Given the description of an element on the screen output the (x, y) to click on. 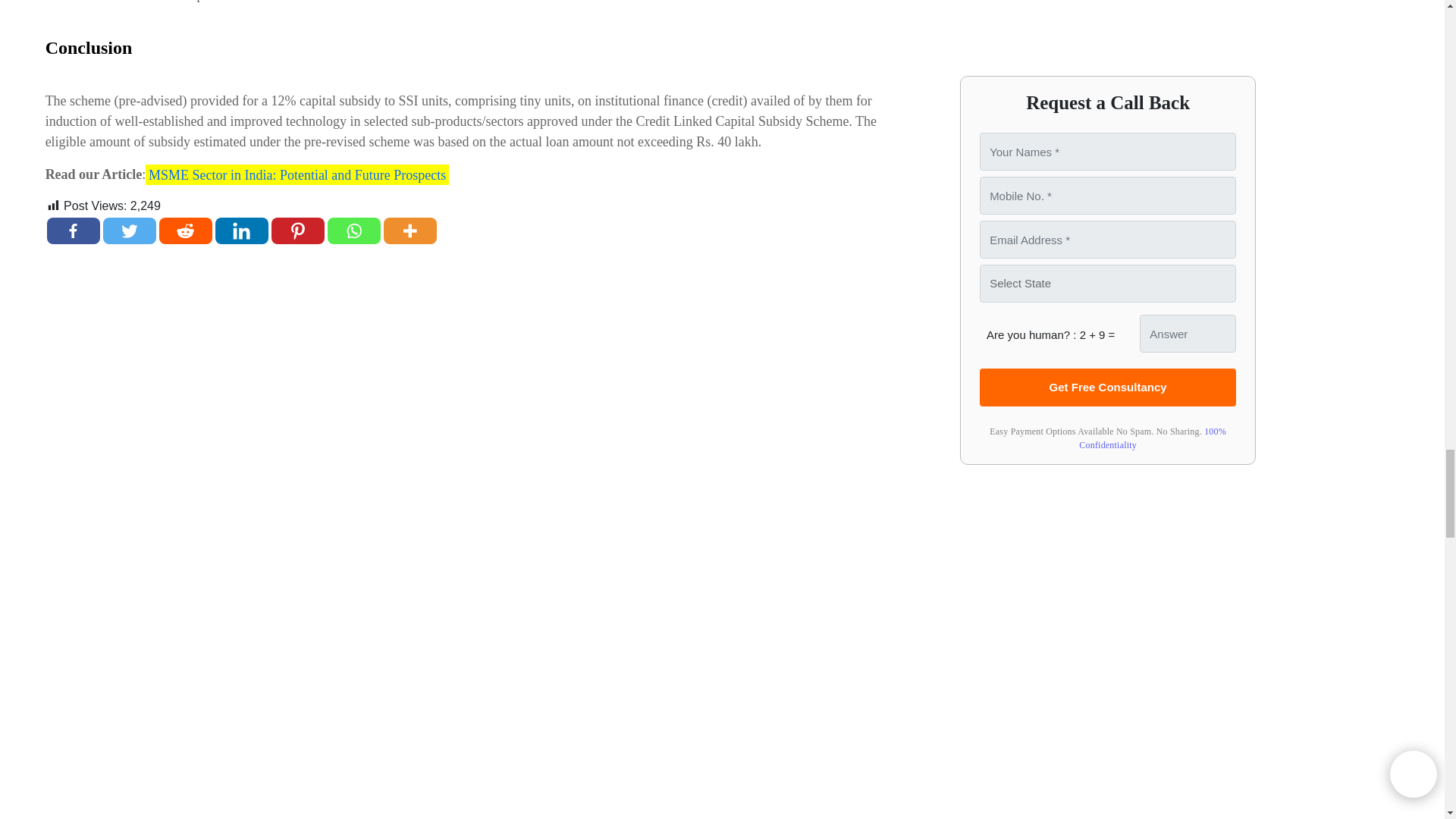
Pinterest (297, 230)
Twitter (129, 230)
More (410, 230)
Reddit (185, 230)
Facebook (73, 230)
Whatsapp (353, 230)
Linkedin (241, 230)
